Given the description of an element on the screen output the (x, y) to click on. 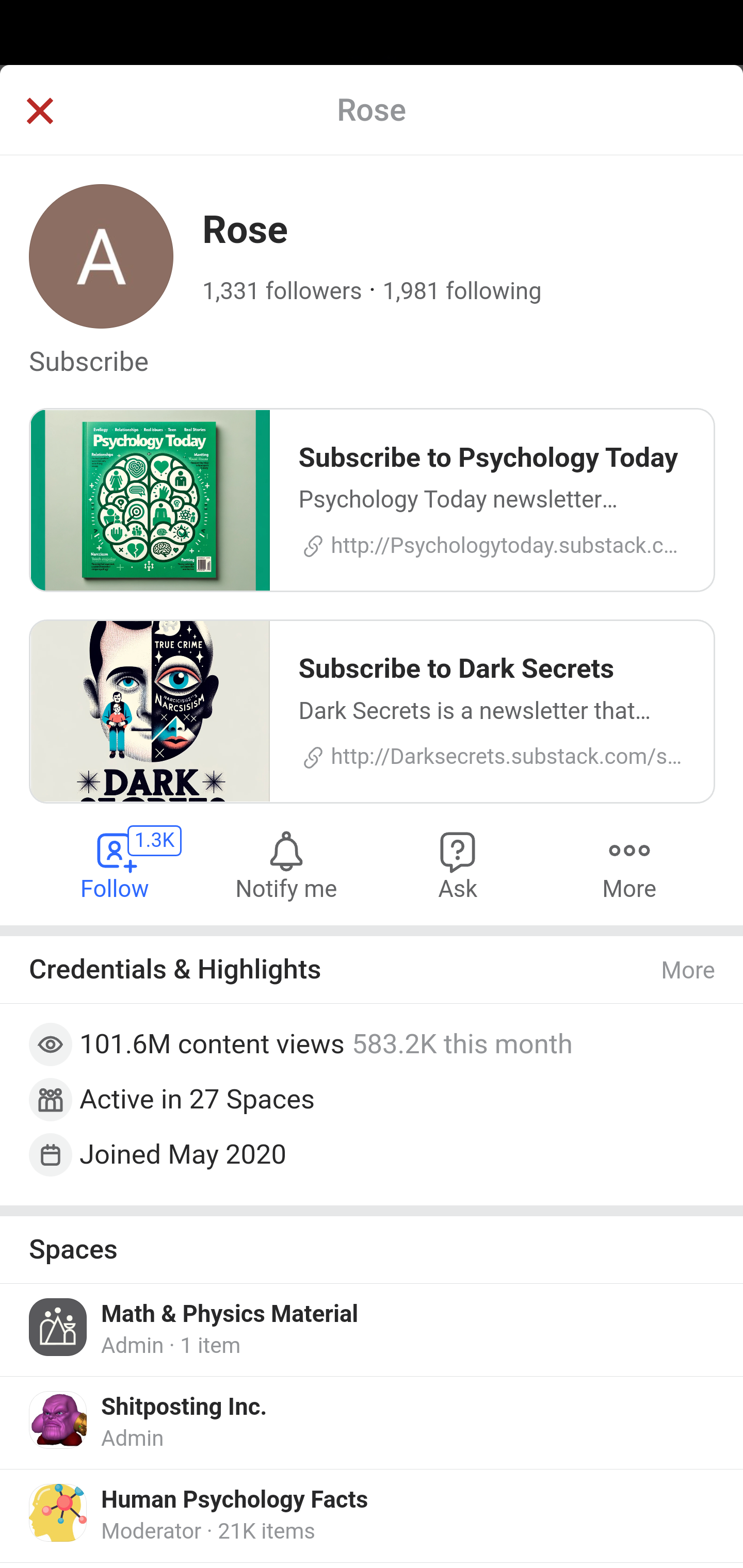
 (39, 112)
1,331 followers (282, 291)
1,981 following (460, 291)
Dark Psychology Secrets (241, 372)
Follow Rose 1.3K Follow (115, 863)
Notify me (285, 863)
Ask (458, 863)
More (628, 863)
More (688, 971)
Icon for Math & Physics Material (58, 1326)
Math & Physics Material (229, 1314)
Icon for Shitposting Inc. (58, 1419)
Shitposting Inc. (184, 1406)
Icon for Human Psychology Facts (58, 1512)
Human Psychology Facts (235, 1500)
